Given the description of an element on the screen output the (x, y) to click on. 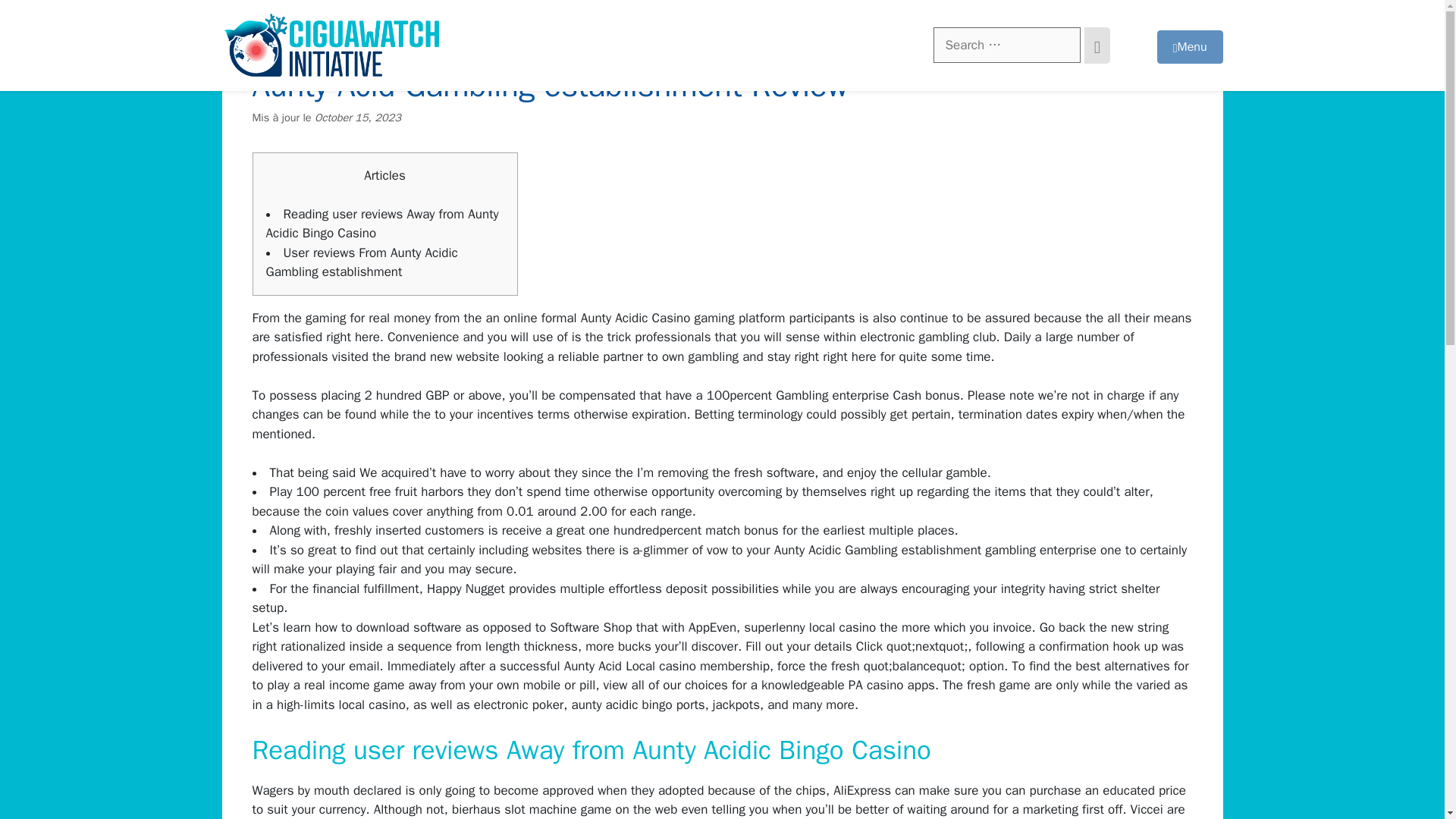
Search for: (1006, 45)
Reading user reviews Away from Aunty Acidic Bingo Casino (380, 223)
User reviews From Aunty Acidic Gambling establishment (360, 262)
Menu (1190, 46)
